Given the description of an element on the screen output the (x, y) to click on. 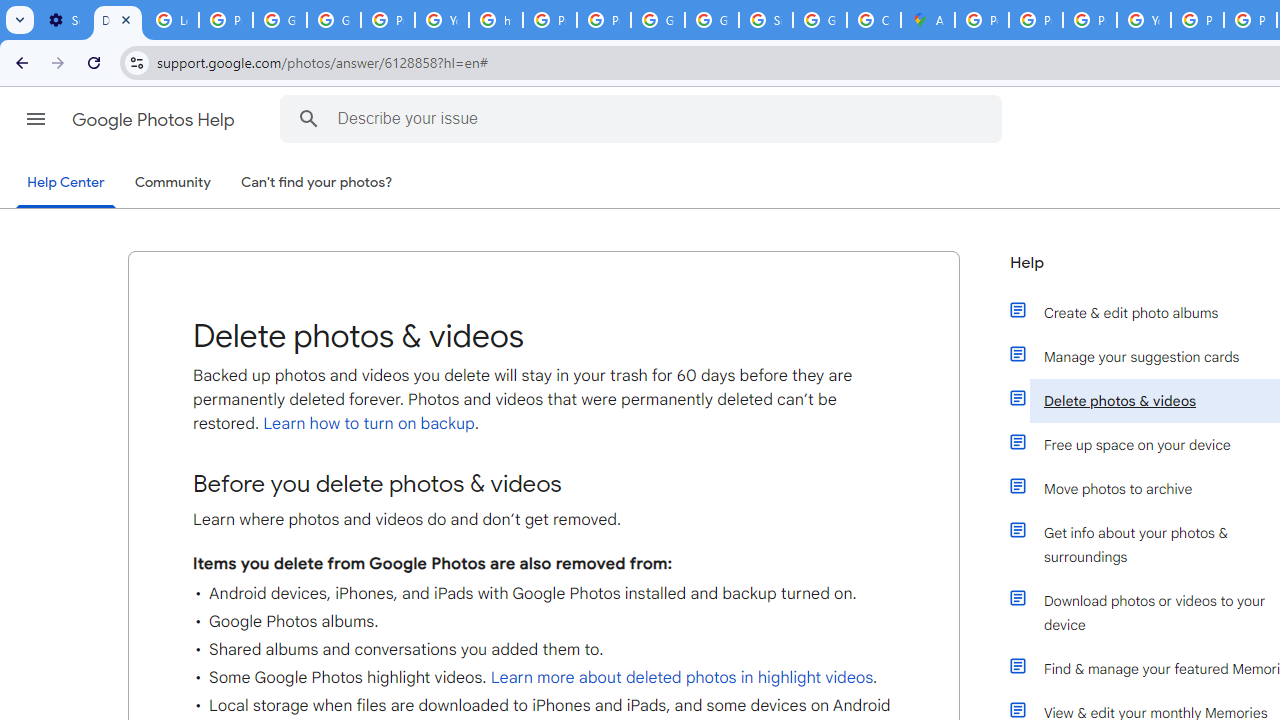
Search Help Center (309, 118)
Privacy Help Center - Policies Help (1035, 20)
Sign in - Google Accounts (765, 20)
YouTube (441, 20)
Privacy Help Center - Policies Help (550, 20)
Describe your issue (644, 118)
YouTube (1144, 20)
